Given the description of an element on the screen output the (x, y) to click on. 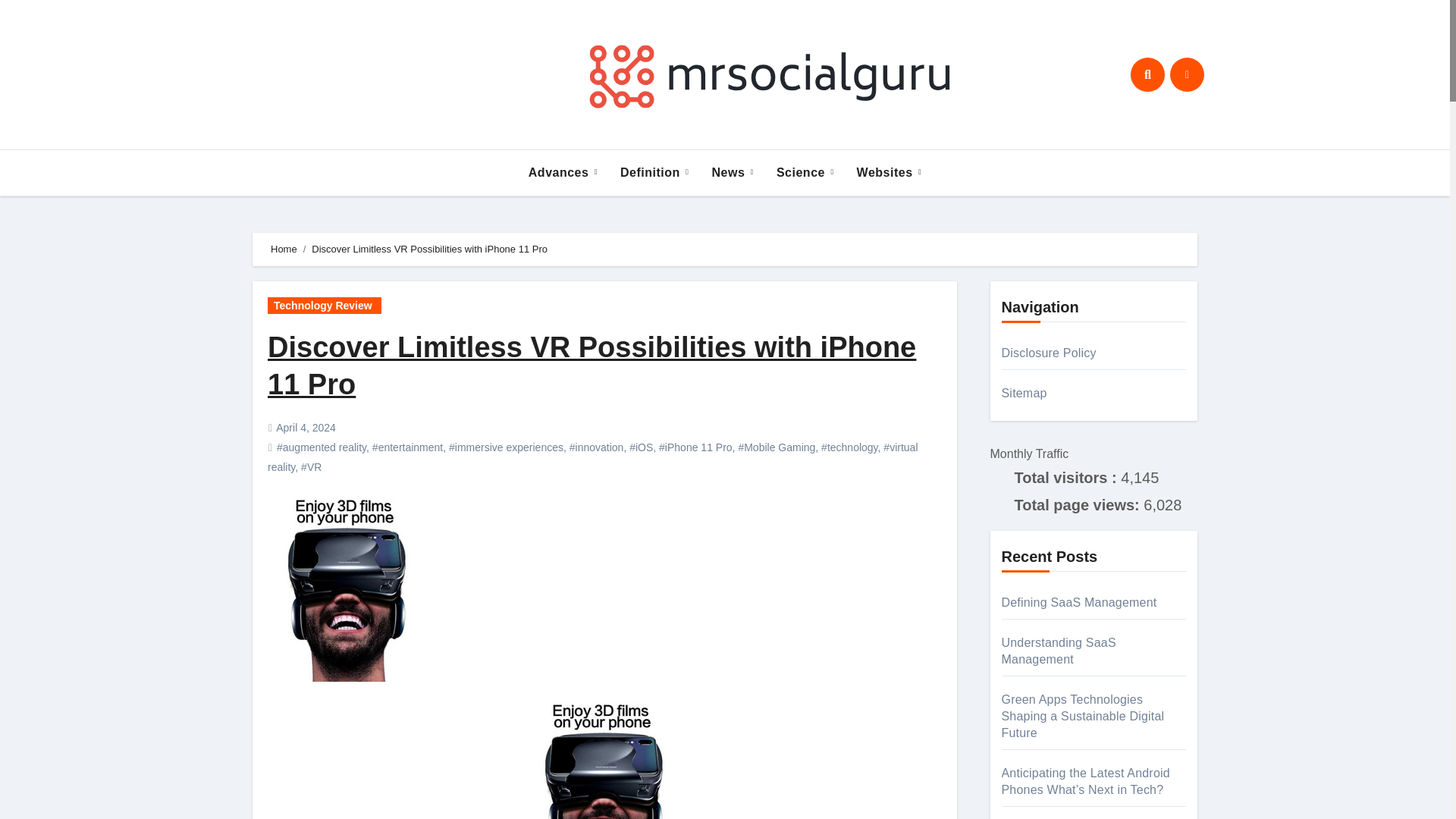
Websites (889, 172)
April 4, 2024 (306, 427)
Science (805, 172)
Advances (562, 172)
Advances (562, 172)
News (732, 172)
Science (805, 172)
Home (283, 248)
Technology Review  (324, 305)
Discover Limitless VR Possibilities with iPhone 11 Pro (591, 365)
